Given the description of an element on the screen output the (x, y) to click on. 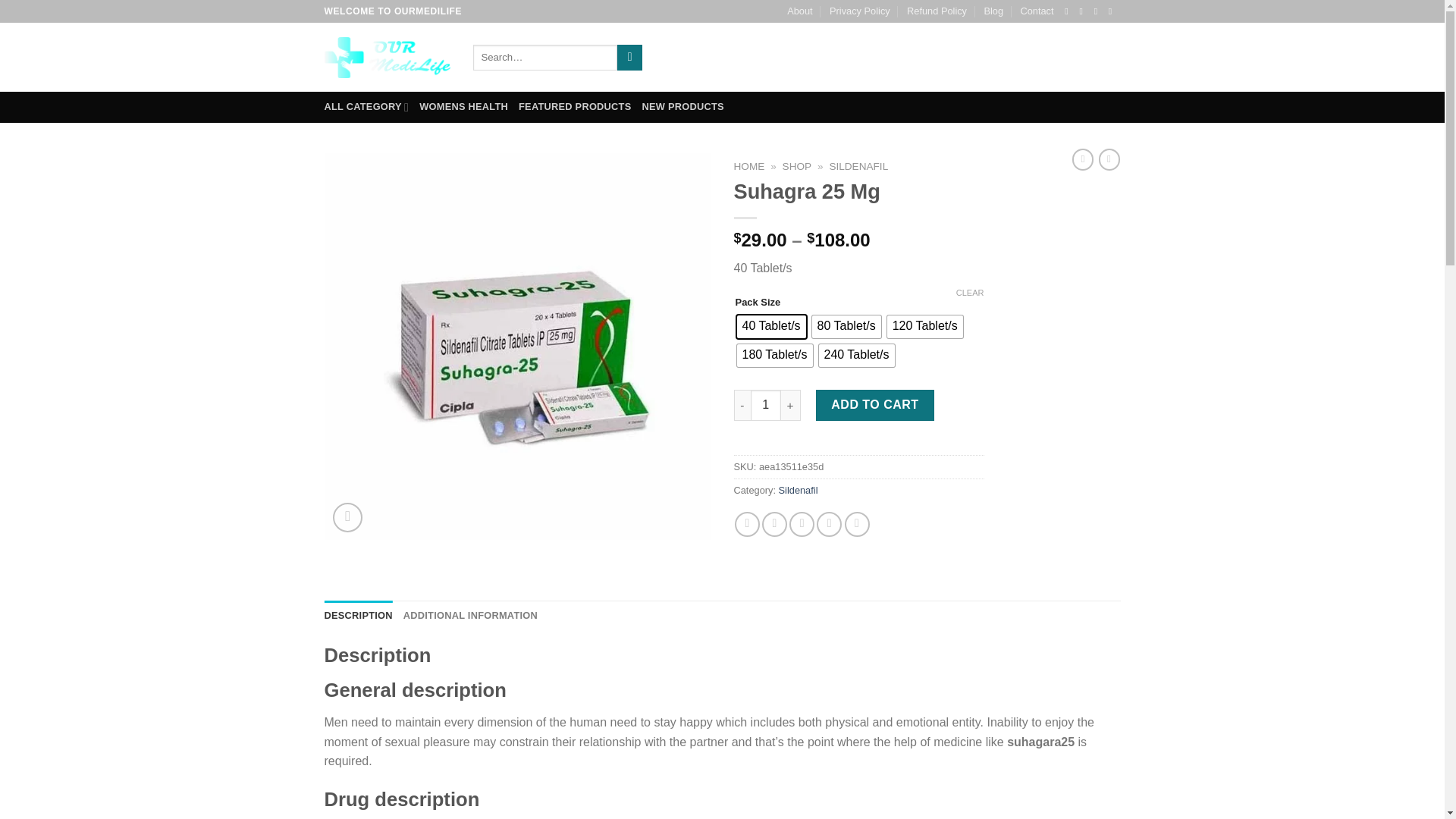
Share on Twitter (774, 524)
1 (765, 404)
Follow on Facebook (1069, 10)
Privacy Policy (859, 11)
Refund Policy (936, 11)
Contact (1036, 11)
Zoom (347, 517)
ALL CATEGORY (366, 106)
Email to a Friend (801, 524)
Share on Facebook (747, 524)
LOGIN (991, 57)
About (799, 11)
Send us an email (1113, 10)
Cart (1074, 57)
- (742, 404)
